Given the description of an element on the screen output the (x, y) to click on. 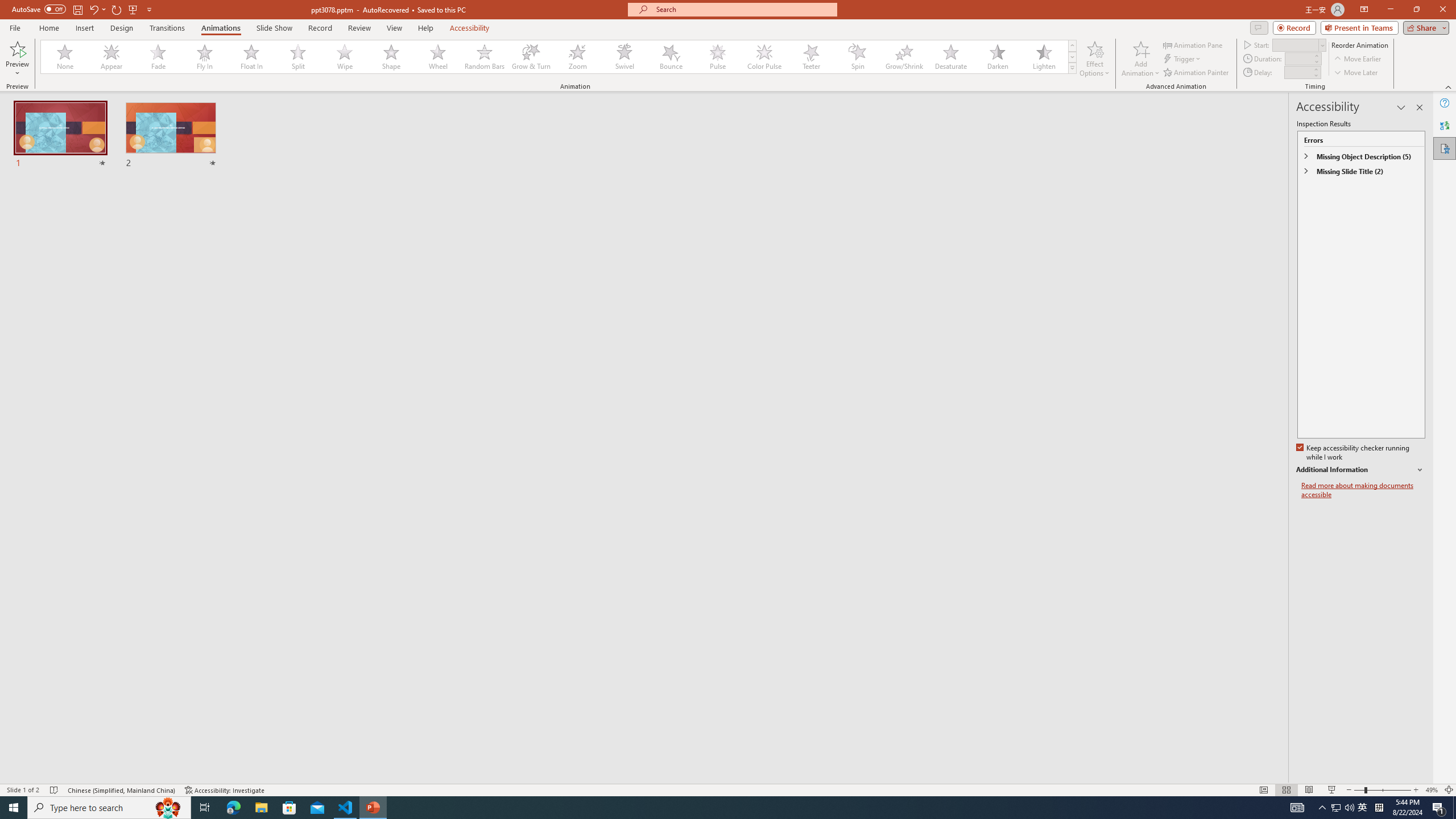
Teeter (810, 56)
None (65, 56)
Move Earlier (1357, 58)
Zoom 49% (1431, 790)
Spin (857, 56)
